Given the description of an element on the screen output the (x, y) to click on. 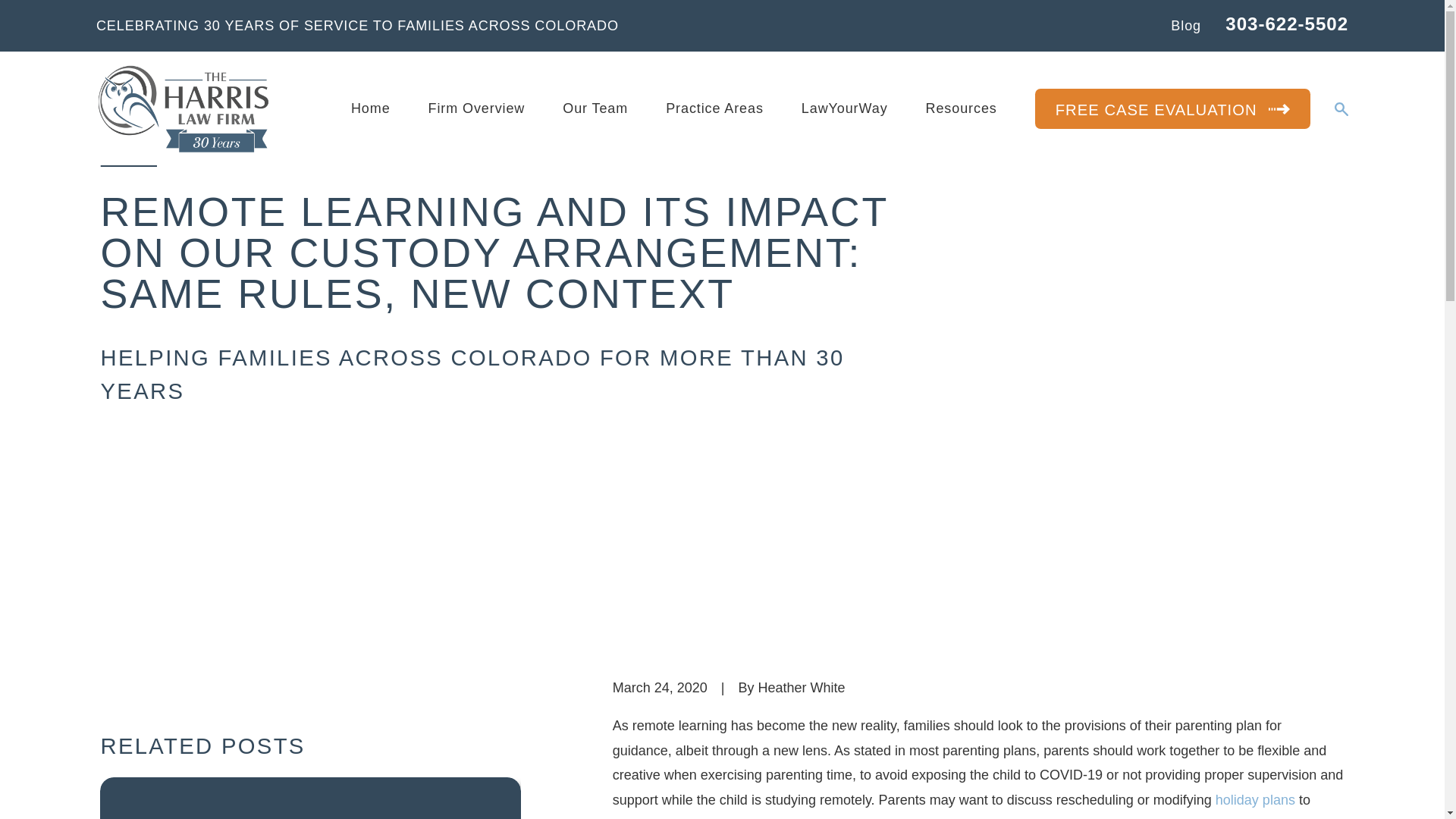
Home (183, 108)
303-622-5502 (1286, 23)
Our Team (594, 108)
Firm Overview (476, 108)
Blog (1185, 25)
